Given the description of an element on the screen output the (x, y) to click on. 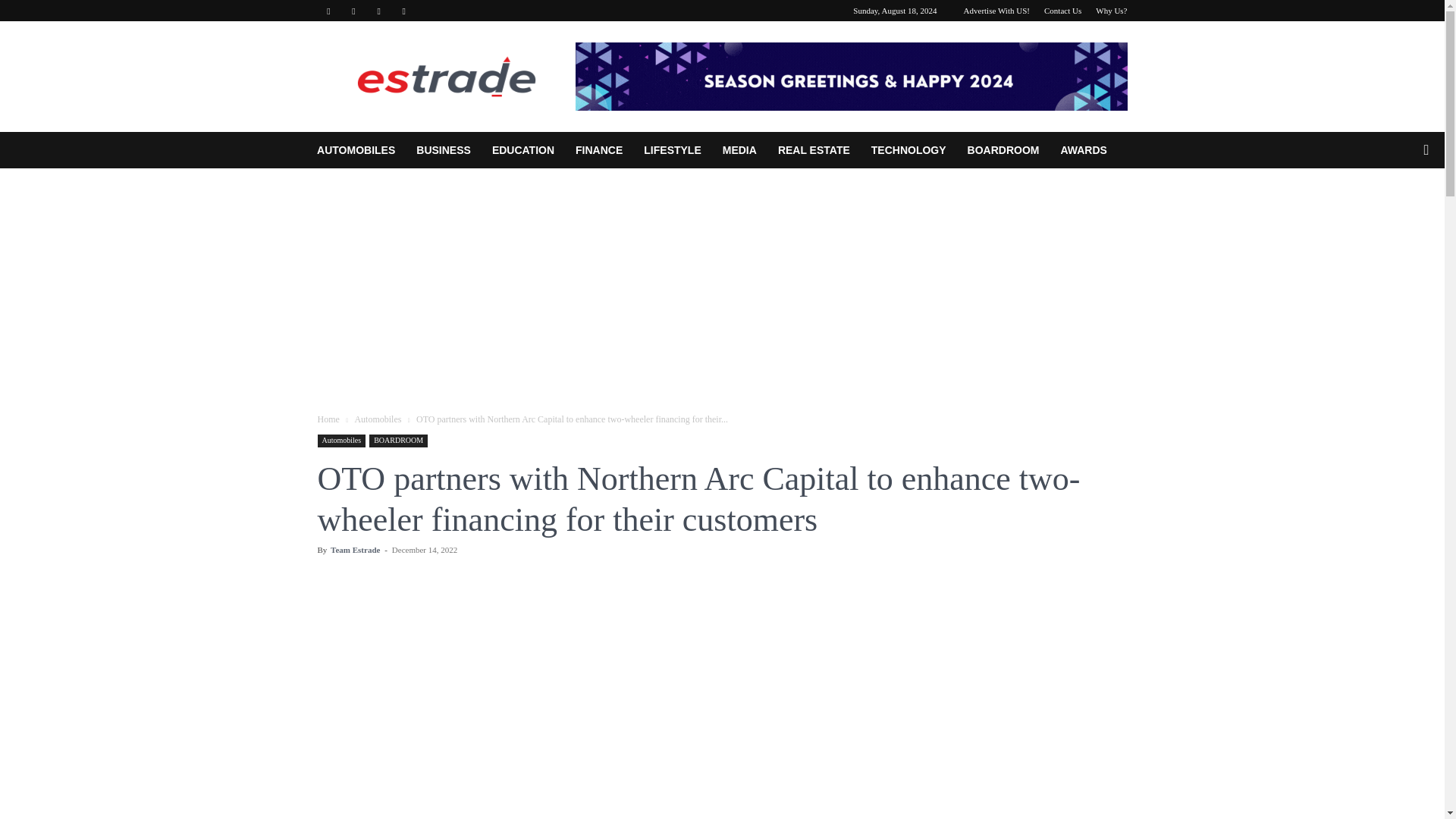
EDUCATION (522, 149)
Estrade India (446, 76)
Contact Us (1062, 10)
AUTOMOBILES (355, 149)
Youtube (403, 10)
AWARDS (1082, 149)
Linkedin (353, 10)
Advertise With US! (996, 10)
BUSINESS (443, 149)
